Given the description of an element on the screen output the (x, y) to click on. 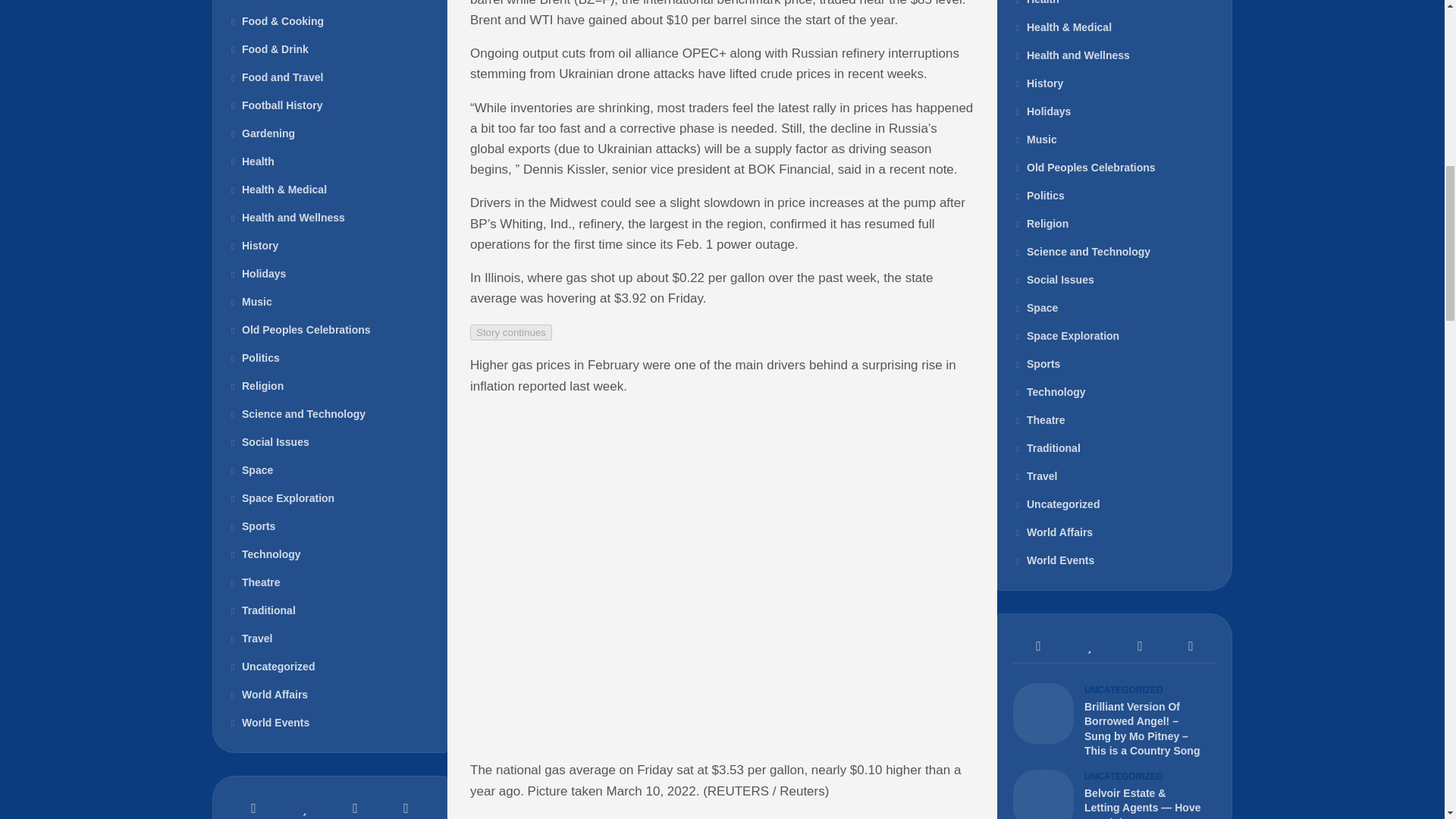
Tags (405, 805)
Popular Posts (304, 805)
Popular Posts (1089, 646)
Recent Posts (1038, 646)
Recent Comments (355, 805)
Story continues (510, 332)
Recent Posts (253, 805)
